Given the description of an element on the screen output the (x, y) to click on. 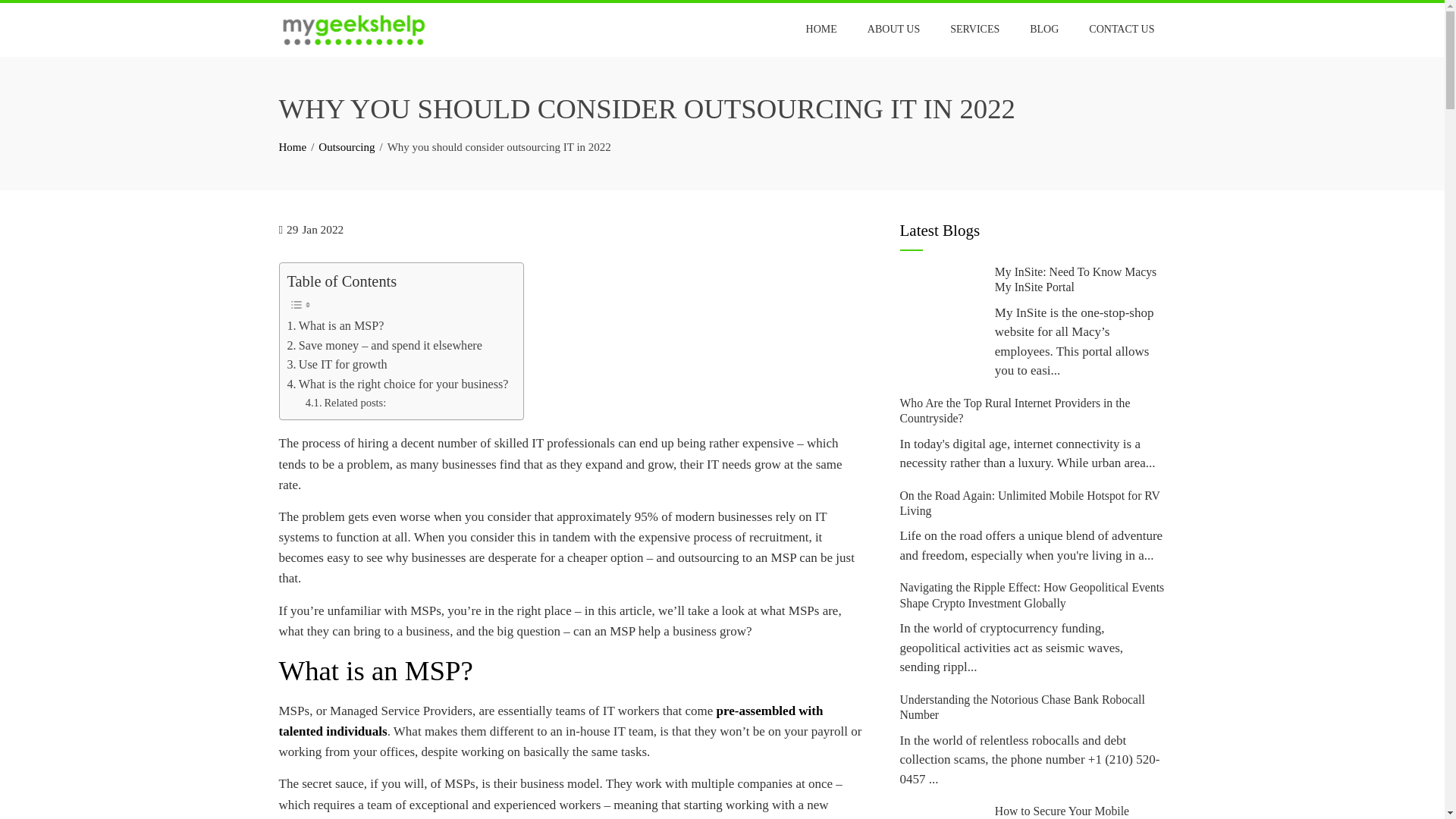
HOME (821, 29)
What is an MSP? (335, 325)
CONTACT US (1121, 29)
What is an MSP? (335, 325)
My InSite: Need To Know Macys My InSite Portal (1075, 279)
What is the right choice for your business? (397, 383)
BLOG (1043, 29)
Home (293, 146)
Related posts: (346, 402)
